Given the description of an element on the screen output the (x, y) to click on. 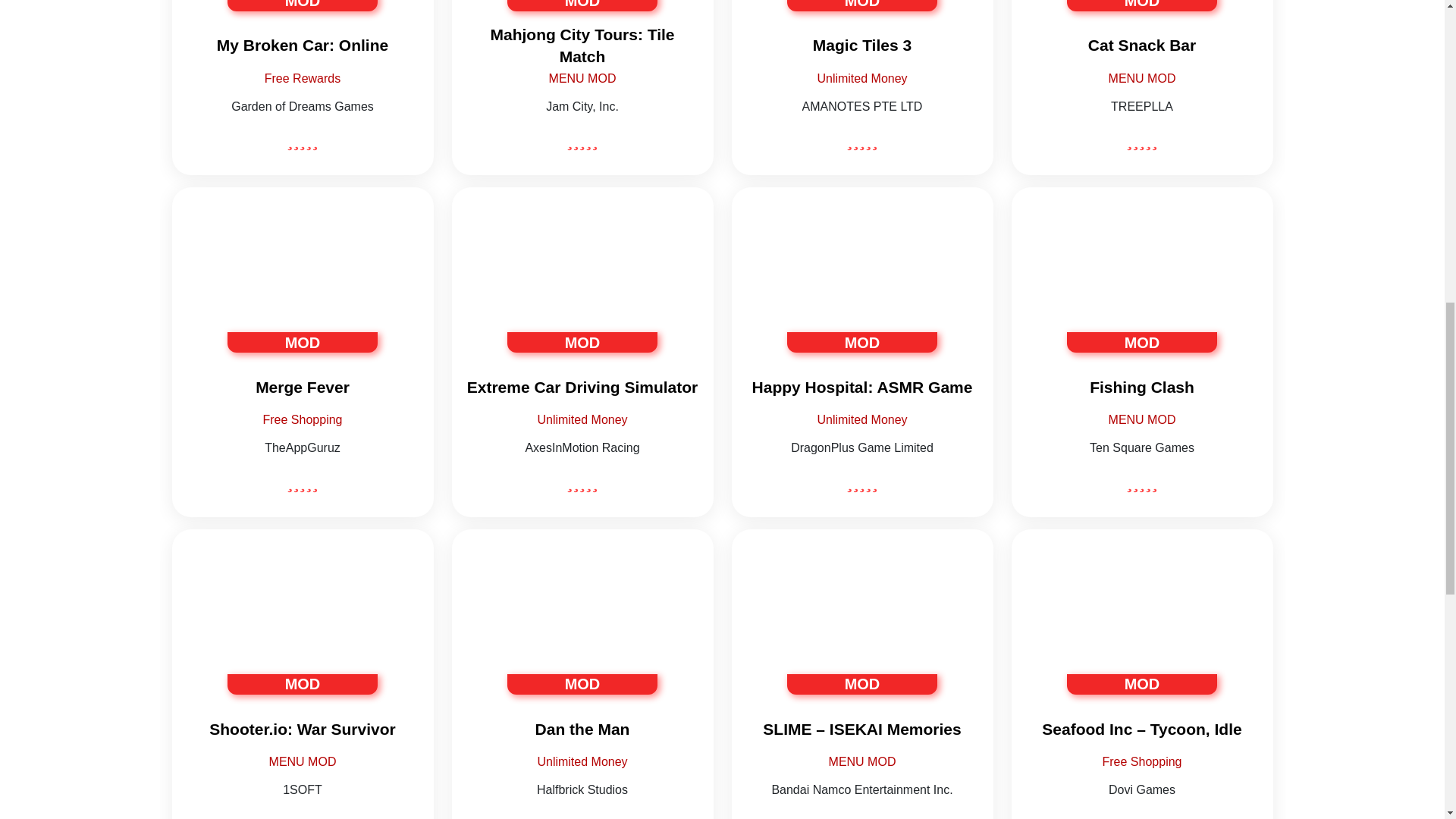
My Broken Car: Online (301, 45)
Happy Hospital: ASMR Game (860, 298)
Extreme Car Driving Simulator (582, 298)
Merge Fever (301, 386)
Shooter.io: War Survivor (301, 619)
Dan the Man (582, 619)
Fishing Clash (1141, 278)
Magic Tiles 3 (860, 45)
Cat Snack Bar (1141, 45)
